Given the description of an element on the screen output the (x, y) to click on. 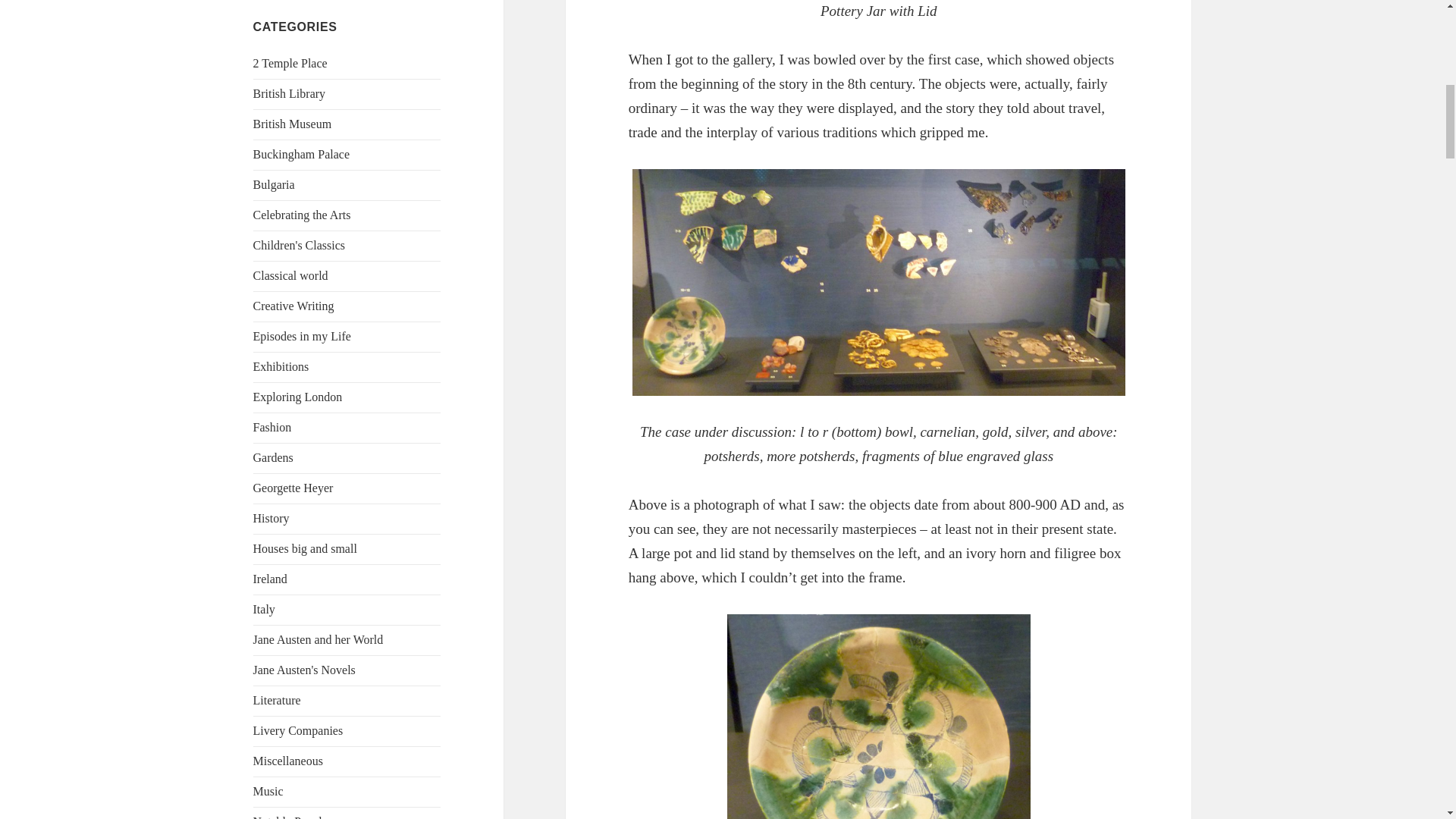
History (271, 517)
Children's Classics (299, 245)
Exhibitions (280, 366)
Buckingham Palace (301, 154)
Episodes in my Life (301, 336)
Exploring London (297, 396)
Georgette Heyer (293, 487)
Literature (277, 699)
Celebrating the Arts (301, 214)
Bulgaria (274, 184)
